Given the description of an element on the screen output the (x, y) to click on. 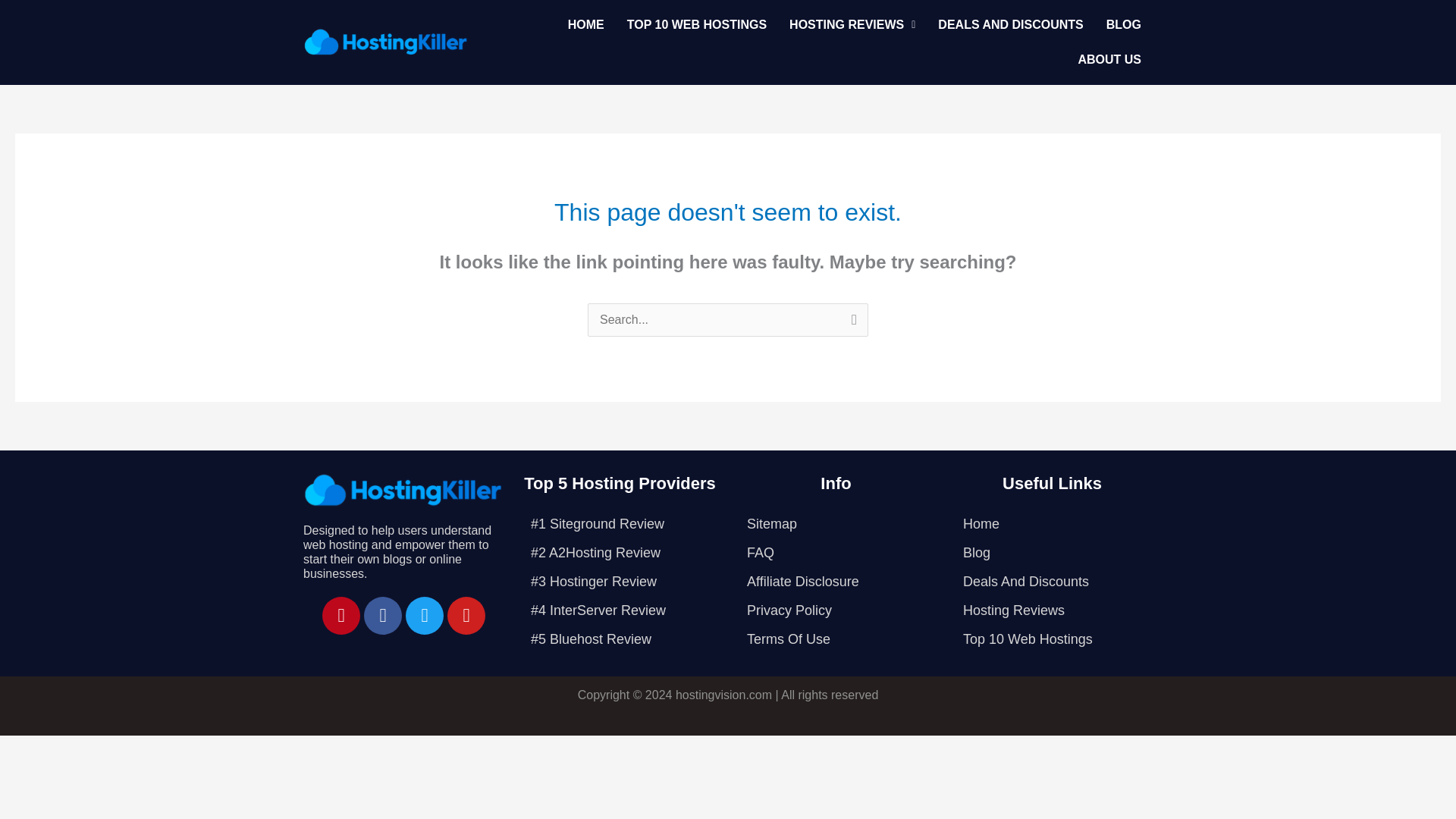
Sitemap (835, 523)
TOP 10 WEB HOSTINGS (696, 24)
Terms Of Use (835, 638)
Pinterest (340, 614)
Top 10 Web Hostings (1052, 638)
Affiliate Disclosure (835, 581)
Twitter (425, 614)
Hosting Reviews (1052, 610)
FAQ (835, 552)
ABOUT US (1109, 59)
